Given the description of an element on the screen output the (x, y) to click on. 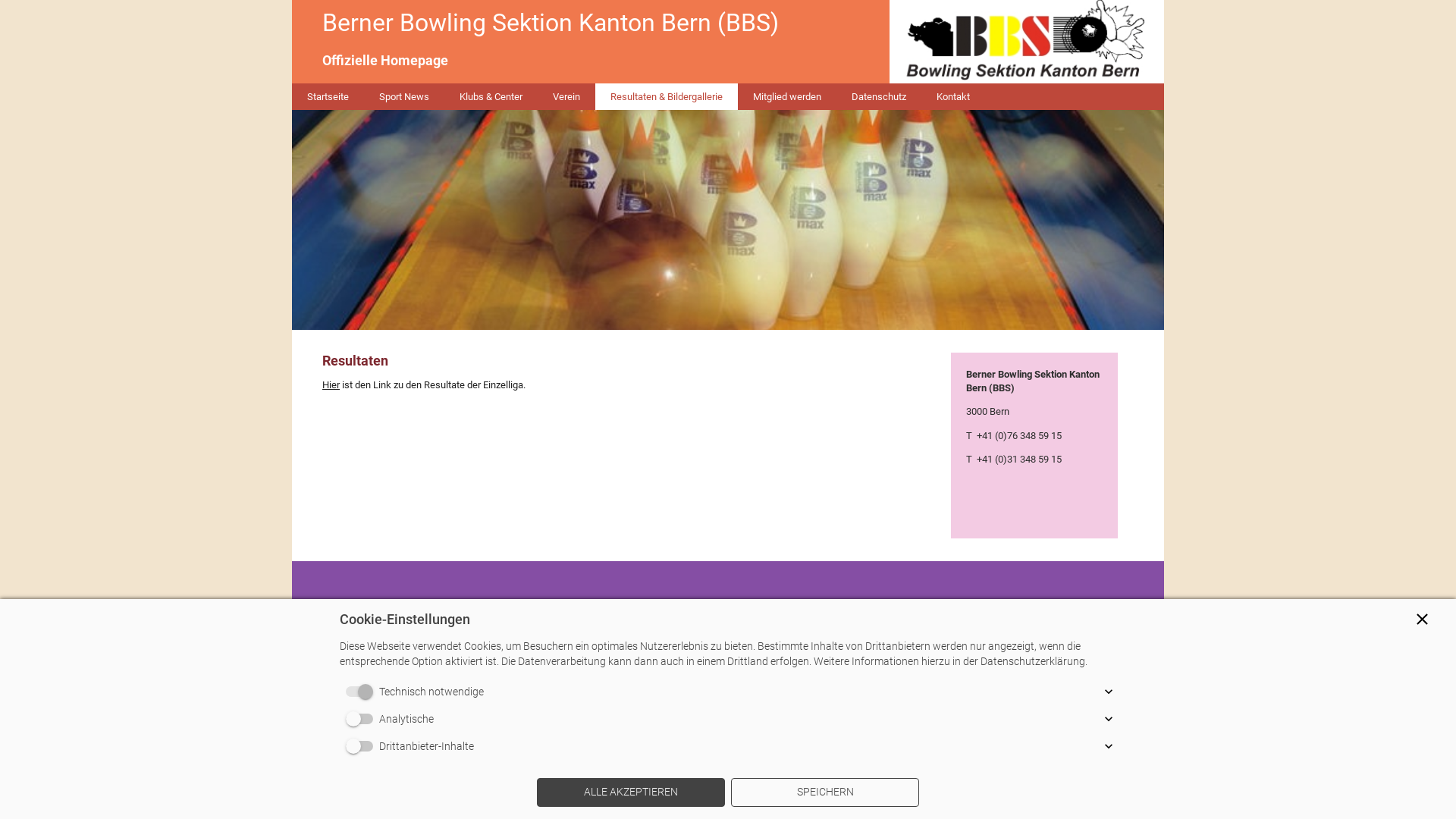
News Element type: text (649, 605)
SPEICHERN Element type: text (825, 792)
Kontakt Element type: text (953, 96)
Klubs & Center Element type: text (701, 605)
Startseite Element type: text (327, 96)
Mitglied werden Element type: text (786, 96)
mitglied werden Element type: text (816, 605)
Startseite Element type: text (578, 605)
verein Element type: text (757, 605)
Hier Element type: text (330, 384)
Resultaten & Bildergallerie Element type: text (666, 96)
Kontakt Element type: text (877, 605)
Datenschutz Element type: text (878, 96)
ALLE AKZEPTIEREN Element type: text (630, 792)
Verein Element type: text (566, 96)
Klubs & Center Element type: text (490, 96)
Sport News Element type: text (404, 96)
